Given the description of an element on the screen output the (x, y) to click on. 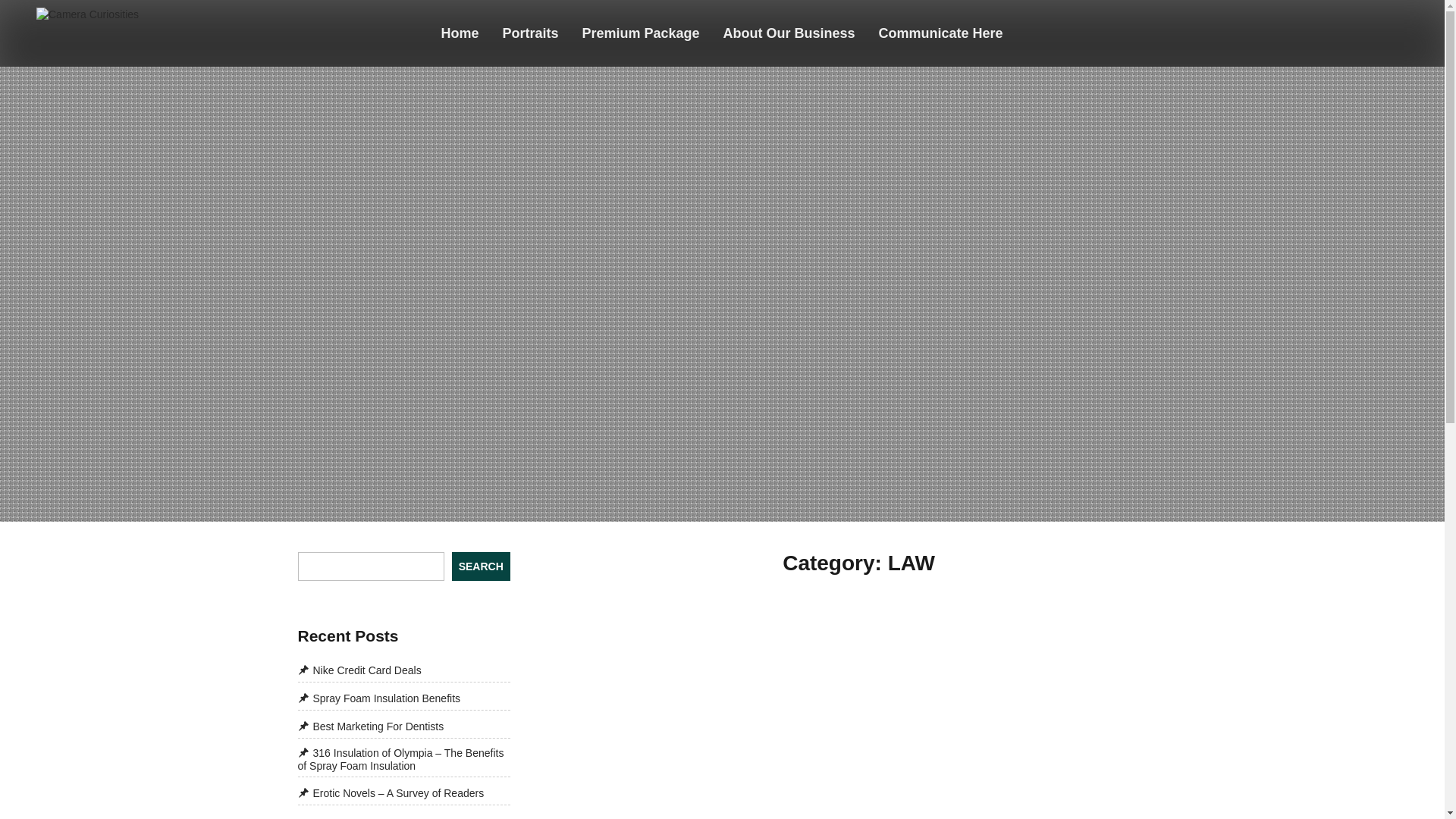
Portraits (530, 32)
Home (459, 32)
Communicate Here (940, 32)
Premium Package (640, 32)
Nike Credit Card Deals (358, 670)
Spray Foam Insulation Benefits (378, 698)
SEARCH (481, 566)
Best Marketing For Dentists (370, 726)
About Our Business (789, 32)
